Given the description of an element on the screen output the (x, y) to click on. 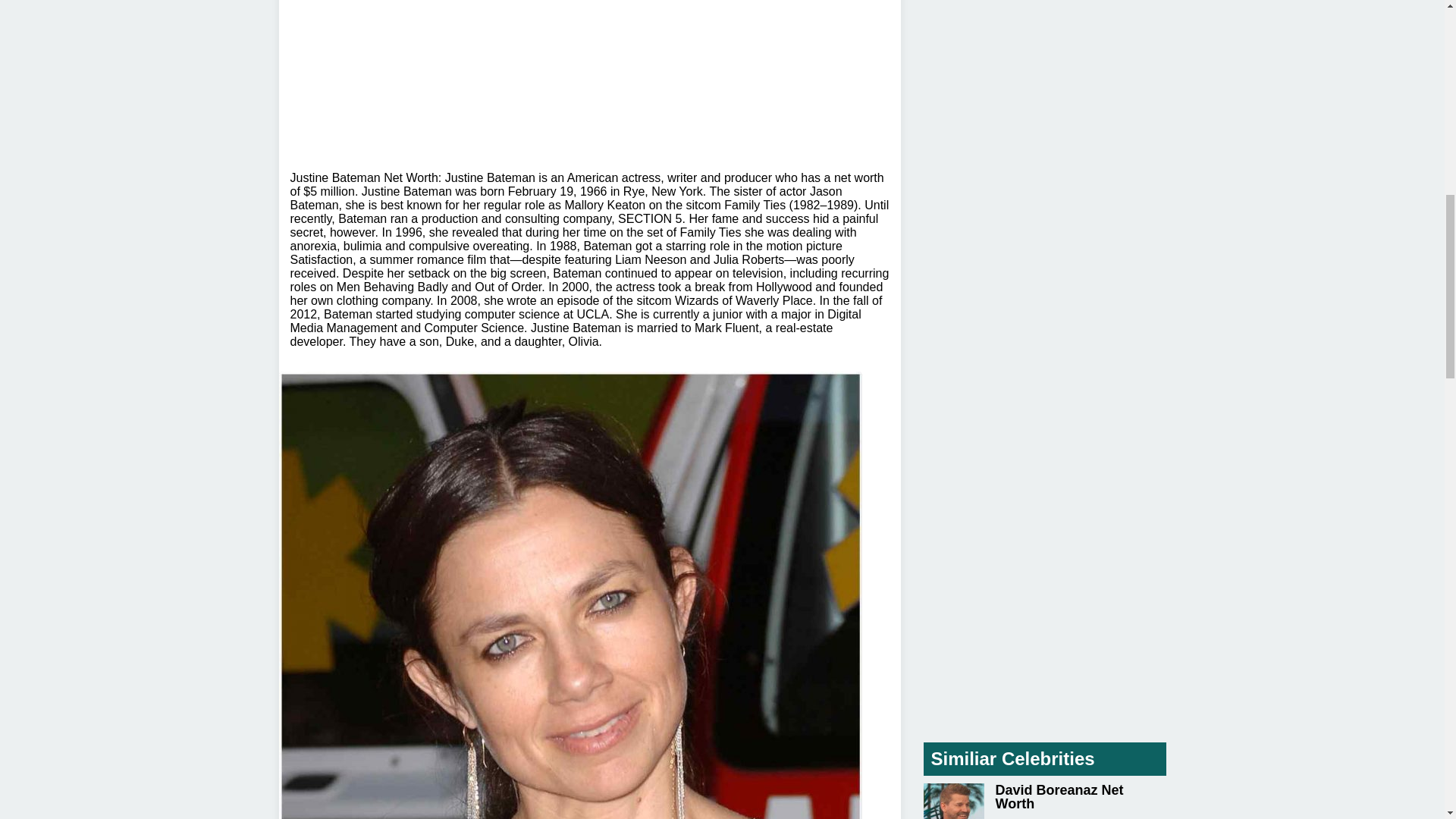
3rd party ad content (590, 74)
David Boreanaz Net Worth (1044, 800)
